Given the description of an element on the screen output the (x, y) to click on. 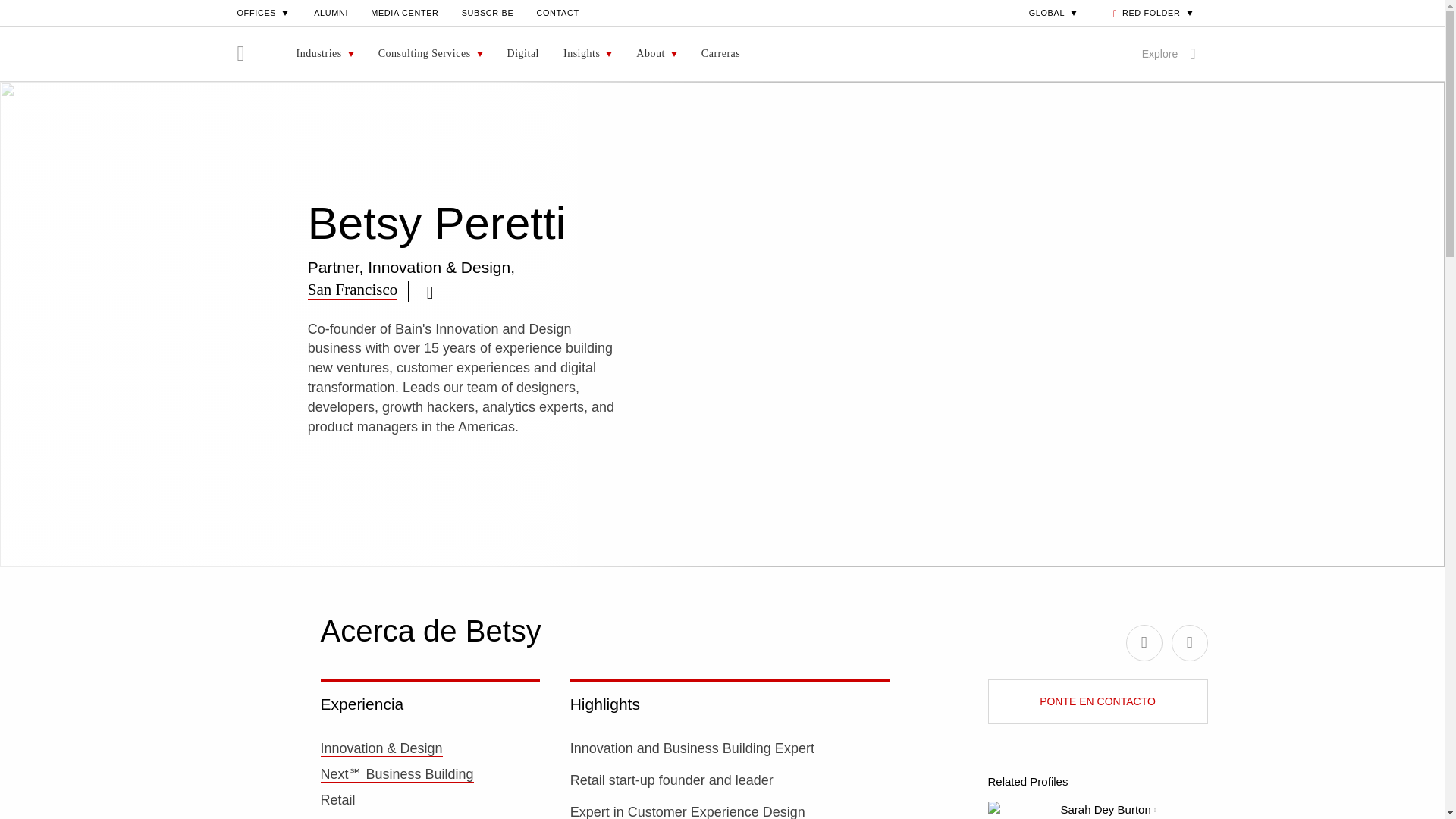
OFFICES (263, 12)
